Given the description of an element on the screen output the (x, y) to click on. 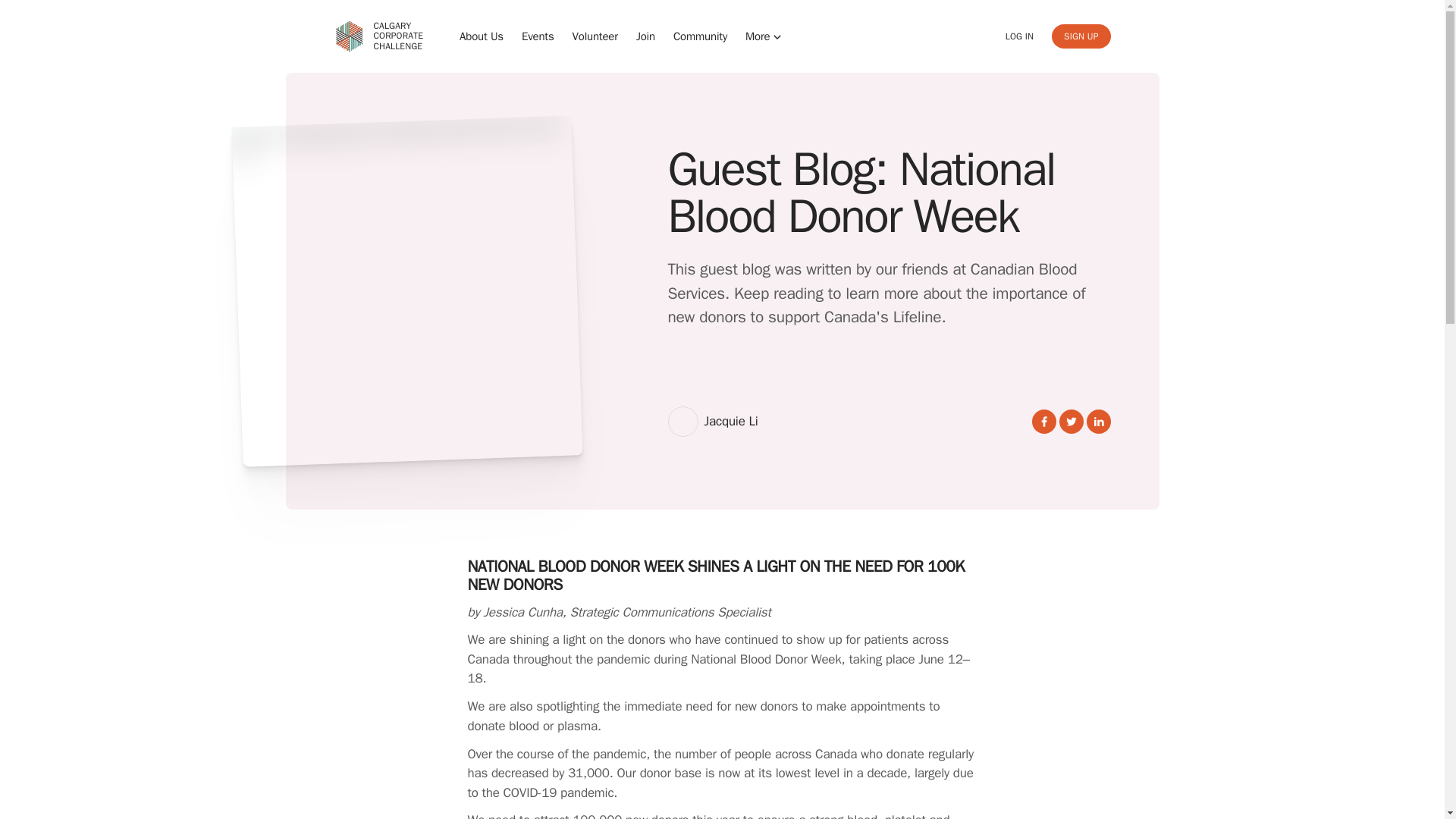
Volunteer (378, 36)
SIGN UP (594, 36)
Join (1080, 36)
More (645, 36)
Events (764, 36)
LOG IN (537, 36)
About Us (1018, 36)
Community (481, 36)
